Given the description of an element on the screen output the (x, y) to click on. 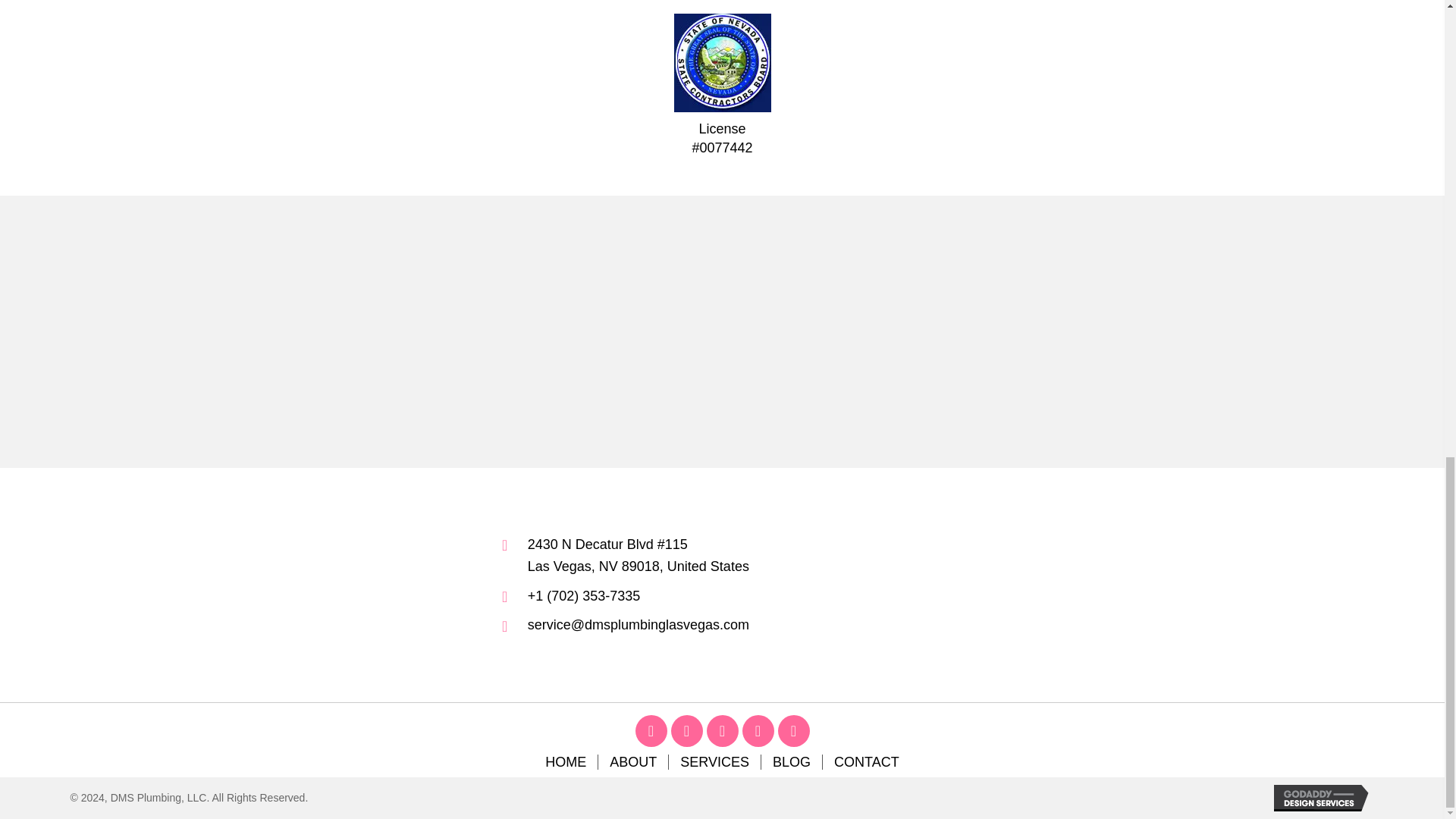
nevada-contractor-board (721, 62)
DMS Plumbing, LLC. (502, 331)
DMS Plumbing, LLC. (649, 331)
DMS Plumbing, LLC. (357, 331)
DMS Plumbing, LLC. (210, 331)
